Given the description of an element on the screen output the (x, y) to click on. 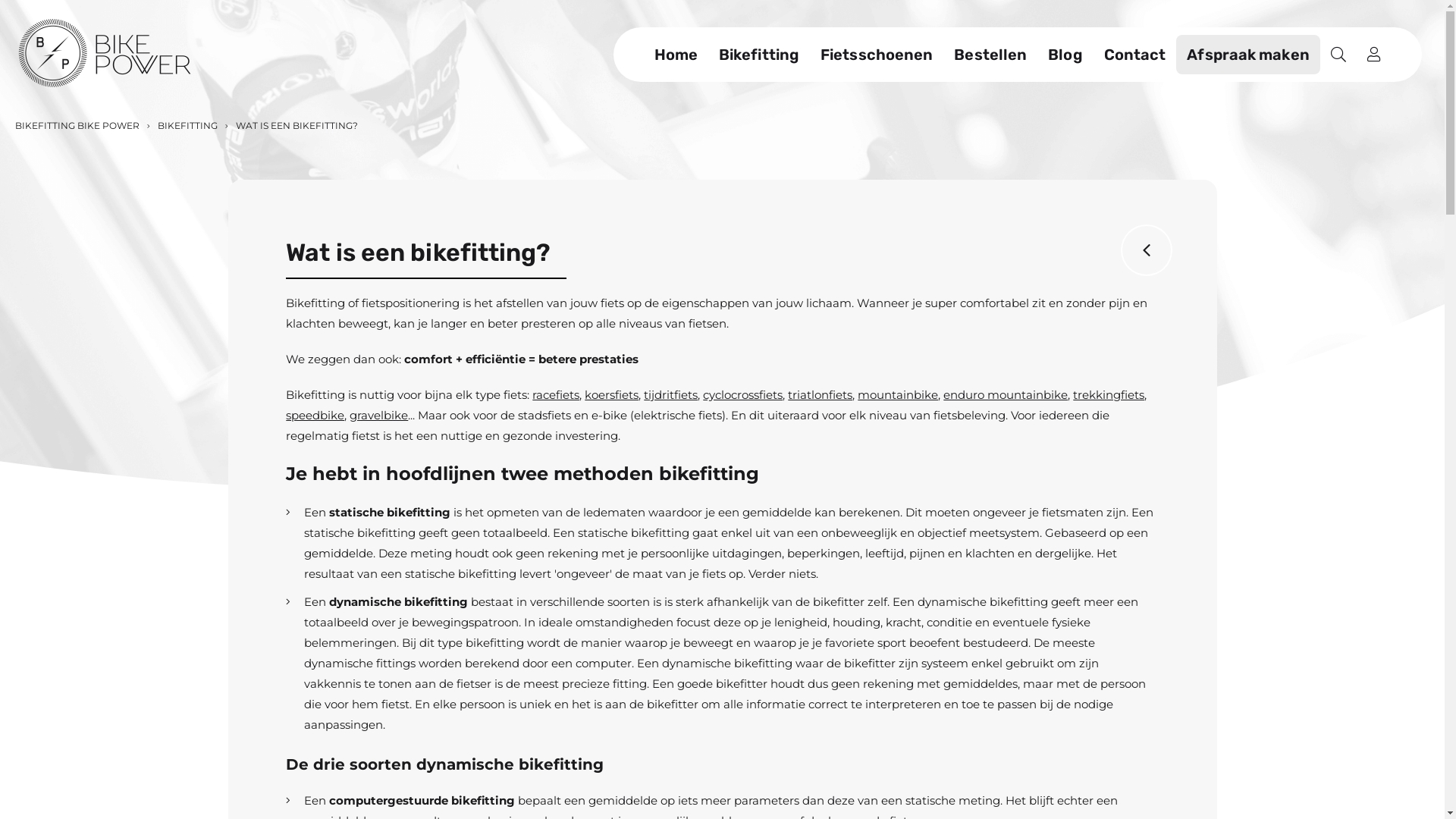
trekkingfiets Element type: text (1108, 394)
BIKEFITTING BIKE POWER Element type: text (77, 125)
gravelbike Element type: text (378, 414)
tijdritfiets Element type: text (670, 394)
Home Element type: text (675, 54)
speedbike Element type: text (314, 414)
Bikefitting Element type: text (758, 54)
Bikefitting Bike Power Element type: hover (104, 53)
Contact Element type: text (1134, 54)
Bestellen Element type: text (990, 54)
BIKEFITTING Element type: text (186, 125)
cyclocrossfiets Element type: text (742, 394)
WAT IS EEN BIKEFITTING? Element type: text (295, 125)
mountainbike Element type: text (897, 394)
racefiets Element type: text (555, 394)
Blog Element type: text (1064, 54)
koersfiets Element type: text (611, 394)
Afspraak maken Element type: text (1247, 54)
enduro mountainbike Element type: text (1005, 394)
triatlonfiets Element type: text (819, 394)
Bikefitting Bike Power Element type: hover (104, 54)
Fietsschoenen Element type: text (876, 54)
